Given the description of an element on the screen output the (x, y) to click on. 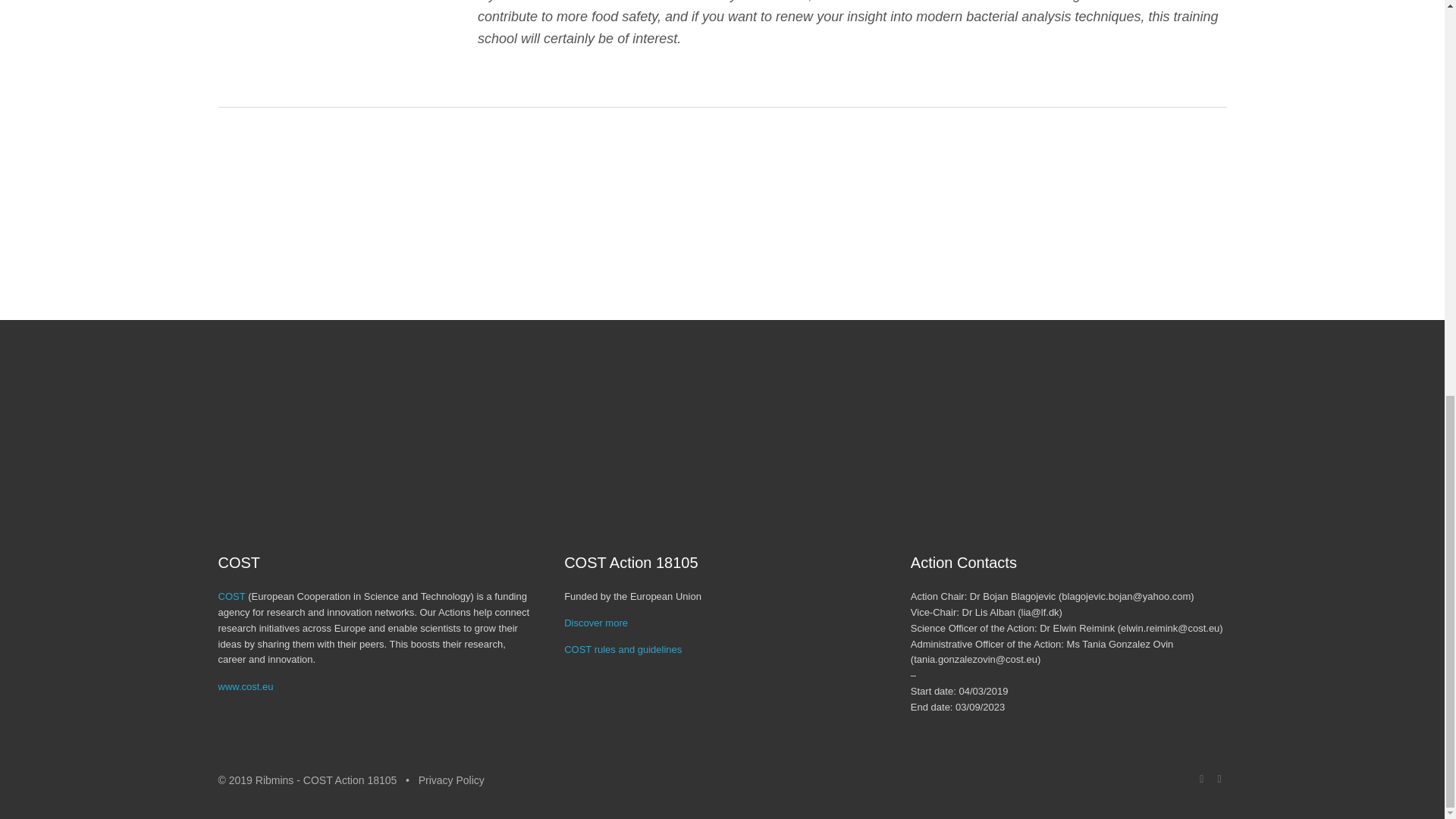
COST (232, 595)
www.cost.eu (245, 686)
Privacy Policy (451, 779)
Discover more (595, 622)
Scroll To Top (1420, 79)
COST rules and guidelines (622, 649)
